Given the description of an element on the screen output the (x, y) to click on. 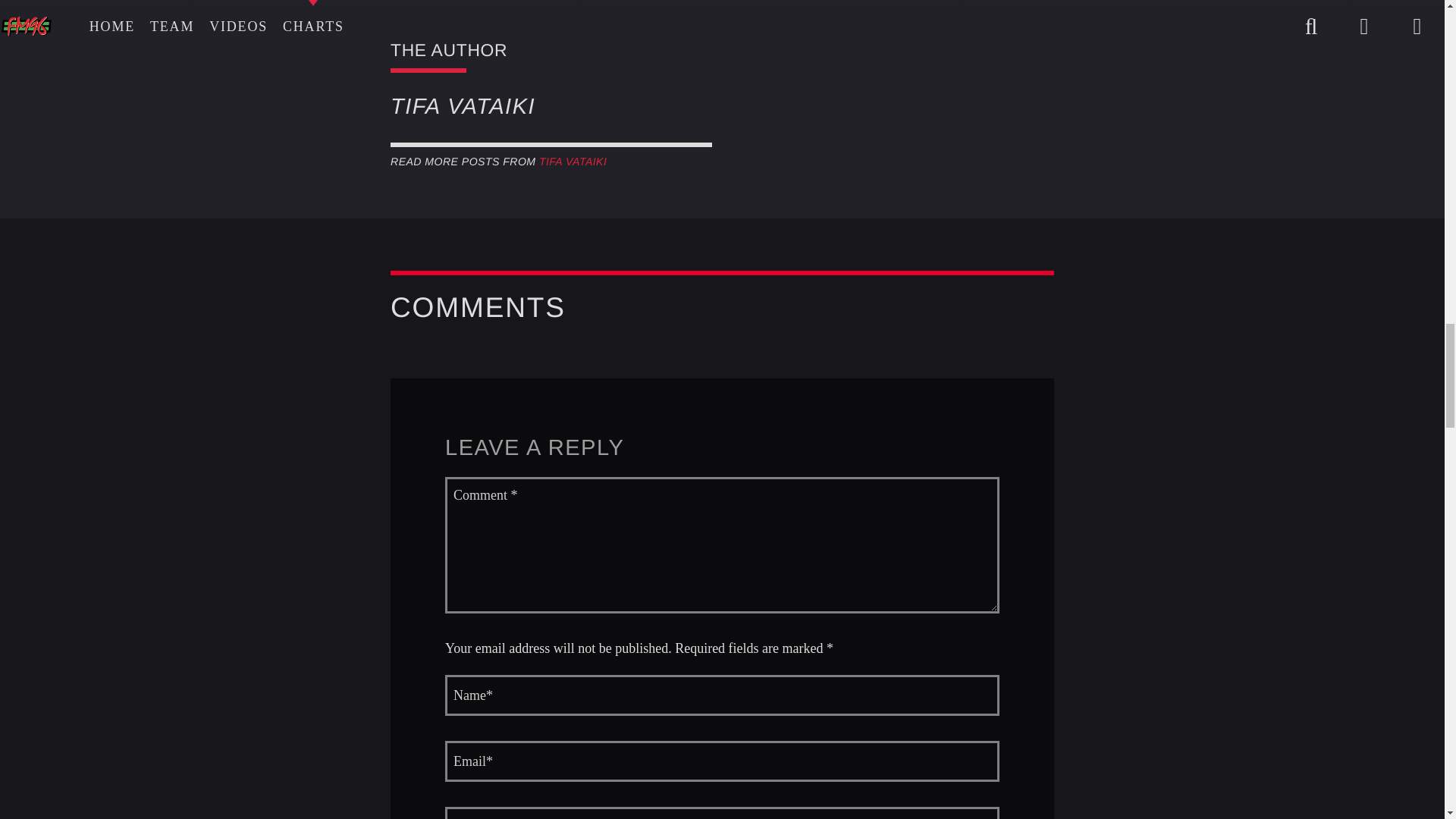
TIFA VATAIKI (572, 161)
Posts by Tifa Vataiki (572, 161)
